Given the description of an element on the screen output the (x, y) to click on. 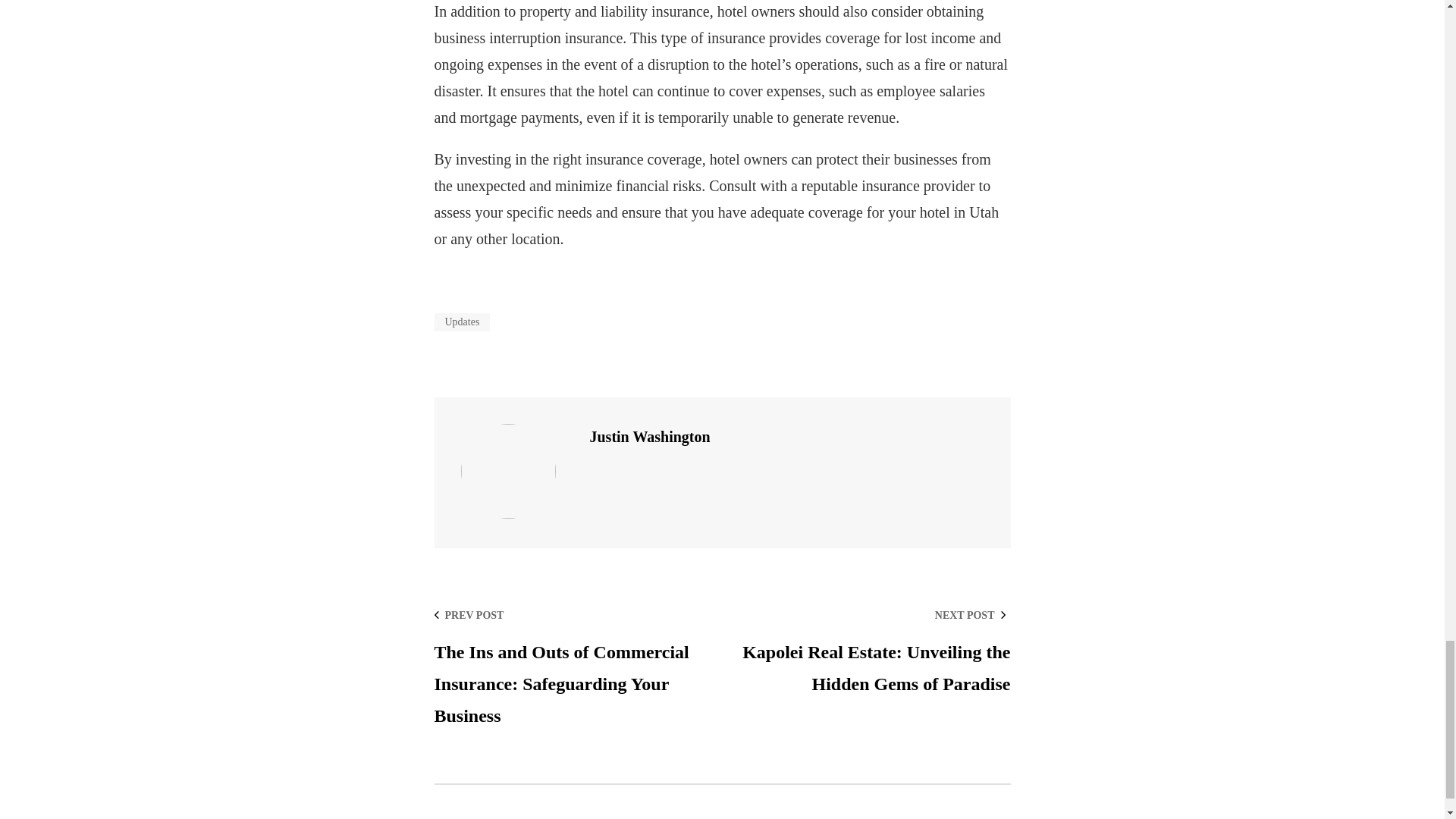
Updates (461, 321)
